Given the description of an element on the screen output the (x, y) to click on. 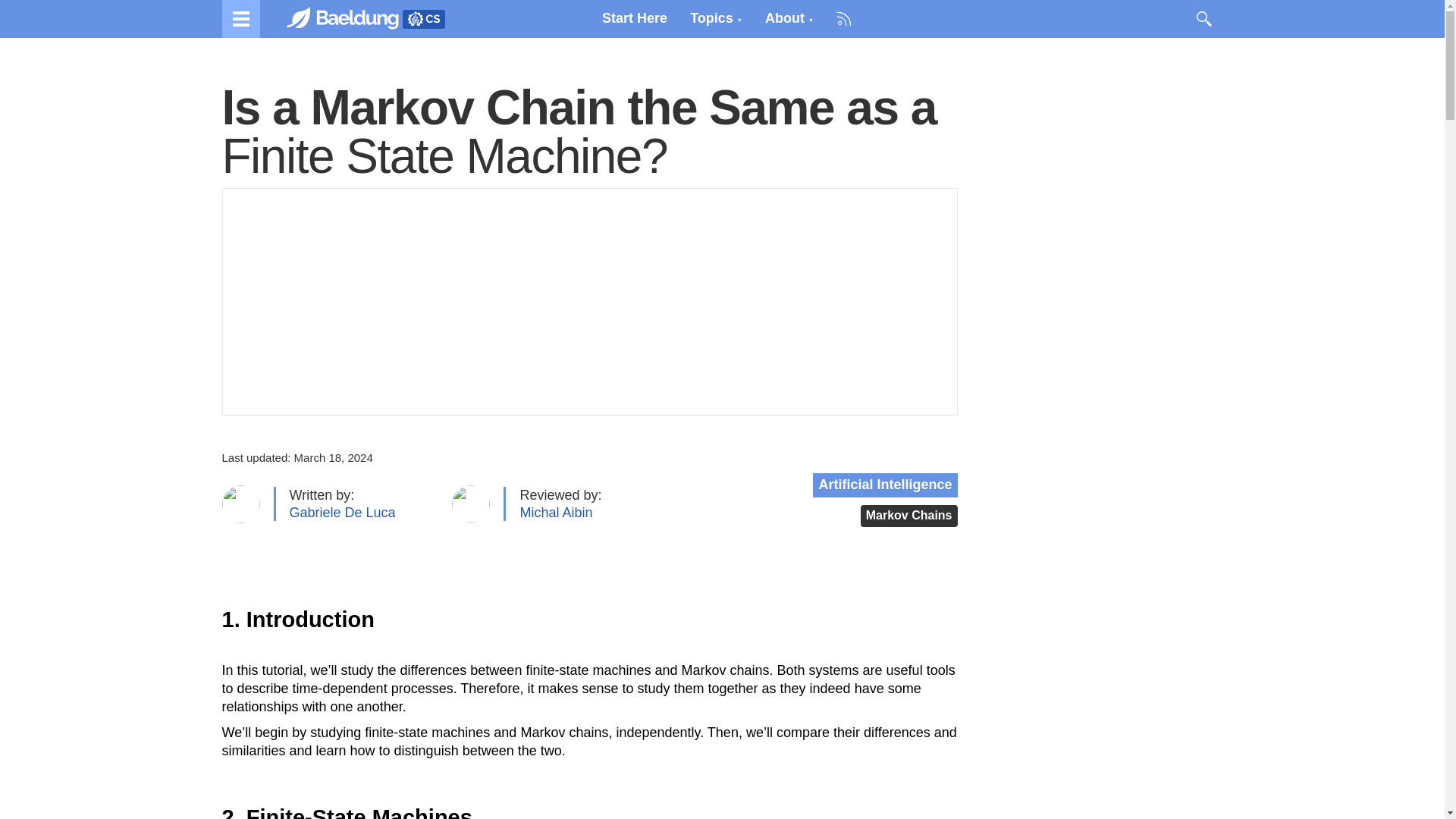
Posts by Gabriele De Luca (342, 512)
Tutorials (240, 18)
Start Here (634, 18)
Baeldung (422, 18)
Reviewed by Michal Aibin (555, 512)
Michal Aibin (555, 512)
Baeldung (350, 17)
RSS (844, 18)
Artificial Intelligence (884, 485)
Gabriele De Luca (342, 512)
search (1204, 18)
Markov Chains (909, 516)
